Given the description of an element on the screen output the (x, y) to click on. 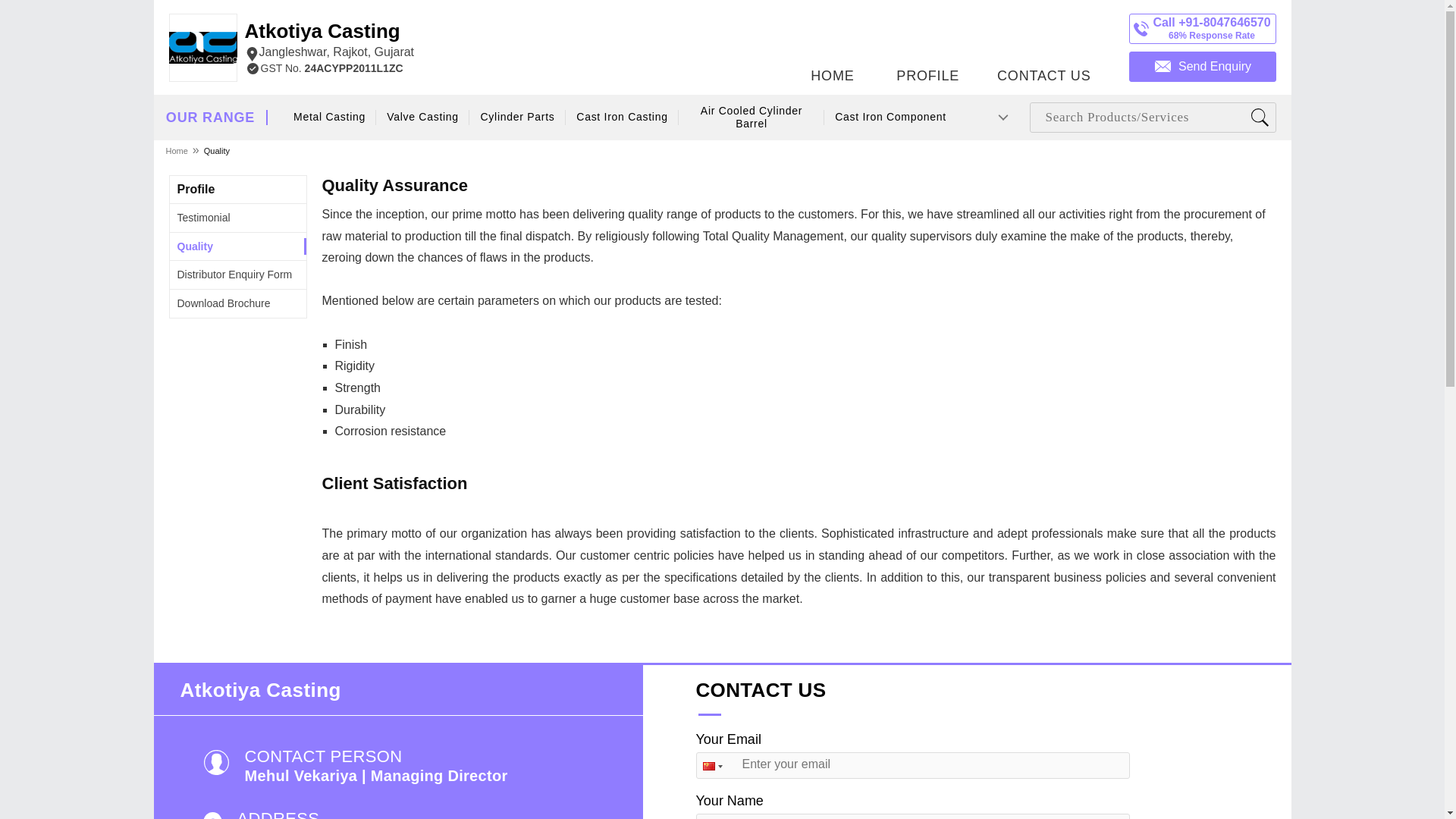
Home (176, 150)
Cast Iron Casting (622, 117)
Profile (196, 188)
PROFILE (927, 43)
OUR RANGE (209, 117)
Cylinder Parts (518, 117)
Cast Iron Component (890, 117)
Quality (194, 246)
Download Brochure (223, 303)
CONTACT US (1043, 43)
